Given the description of an element on the screen output the (x, y) to click on. 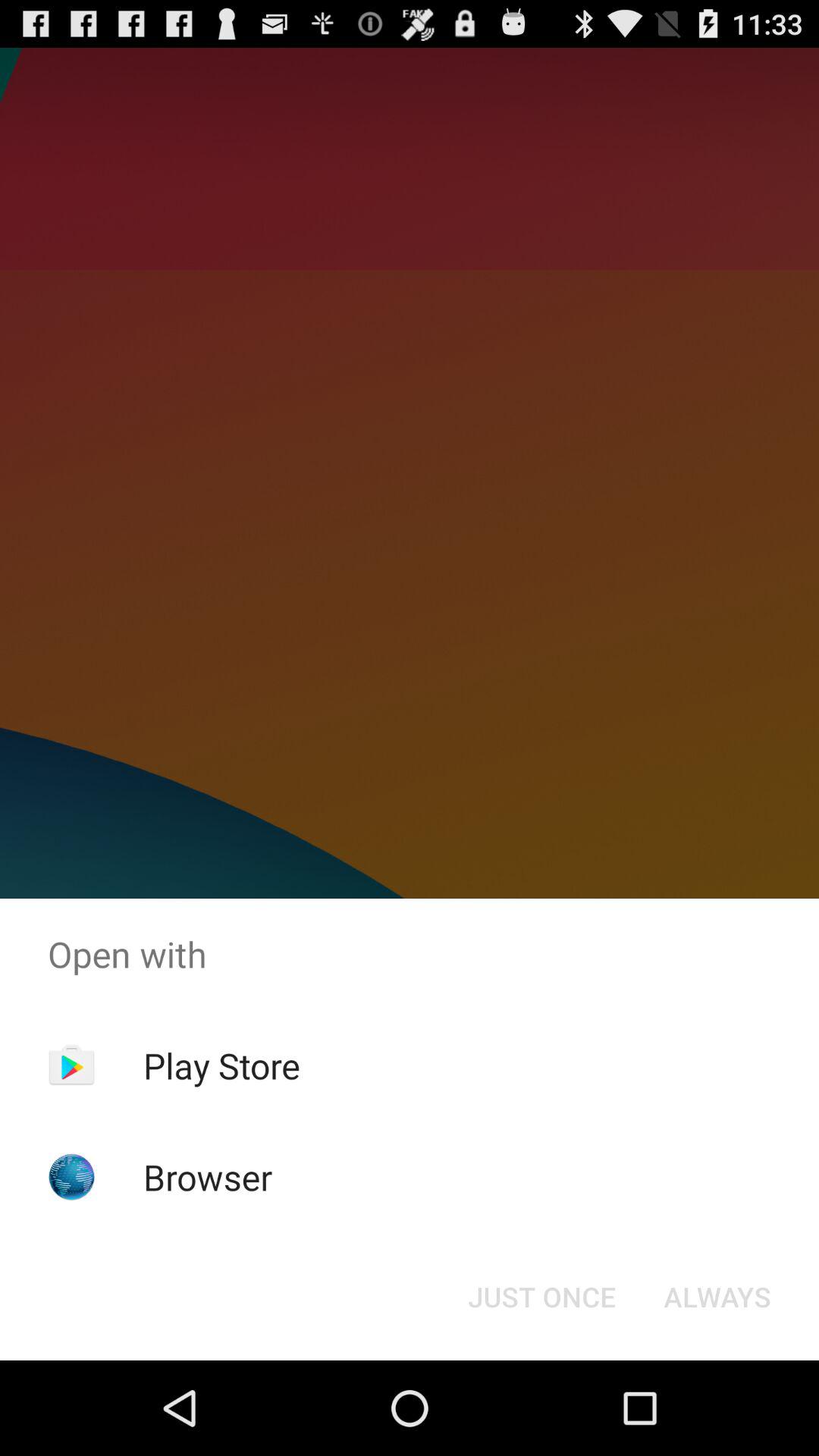
turn on item above browser item (221, 1065)
